Given the description of an element on the screen output the (x, y) to click on. 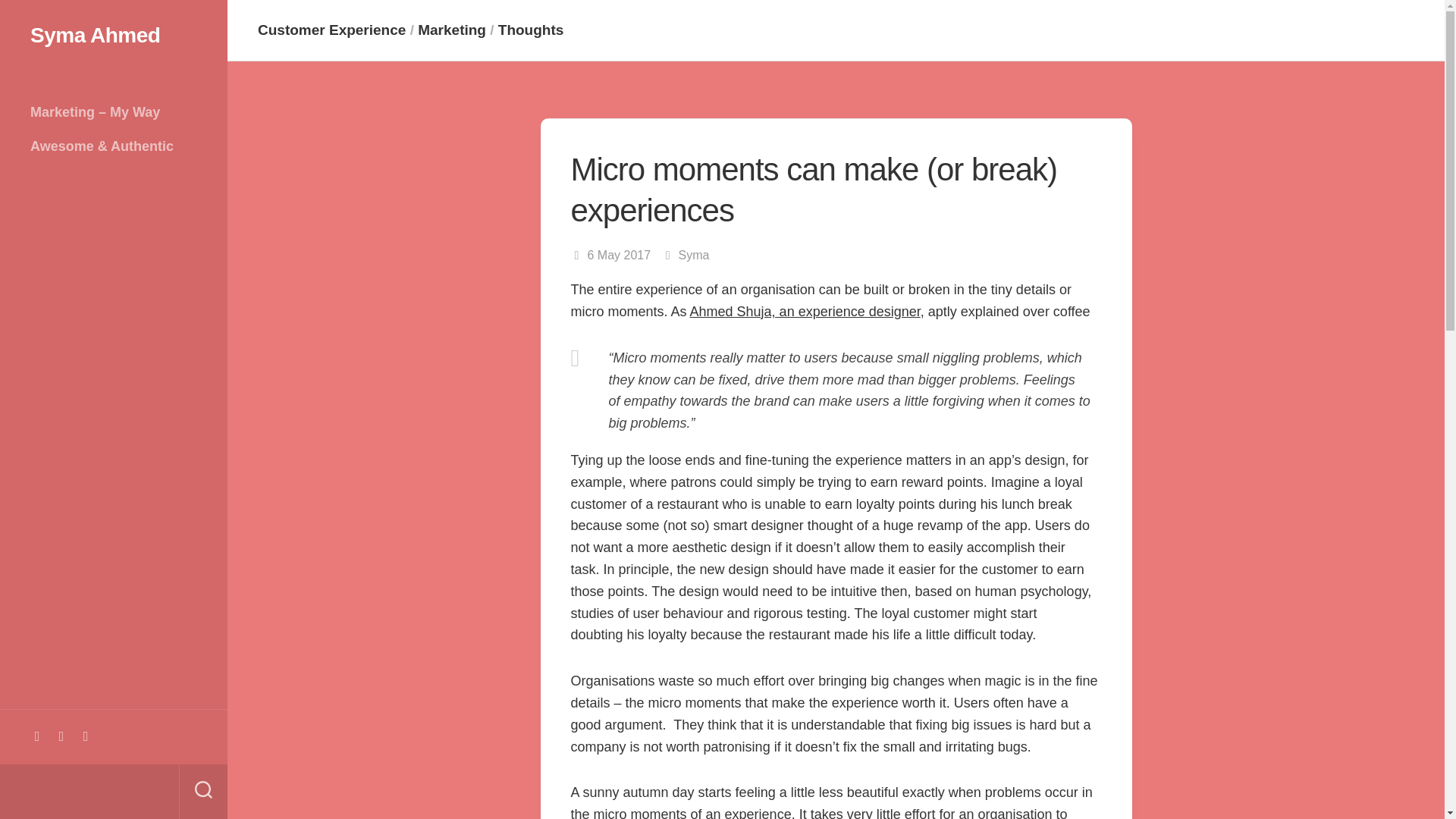
LinkedIn (36, 735)
Customer Experience (331, 29)
Marketing (451, 29)
Syma Ahmed (113, 35)
Twitter (85, 735)
Instagram (61, 735)
Ahmed Shuja, an experience designer (805, 311)
Posts by Syma (694, 254)
Thoughts (530, 29)
Syma (694, 254)
